Given the description of an element on the screen output the (x, y) to click on. 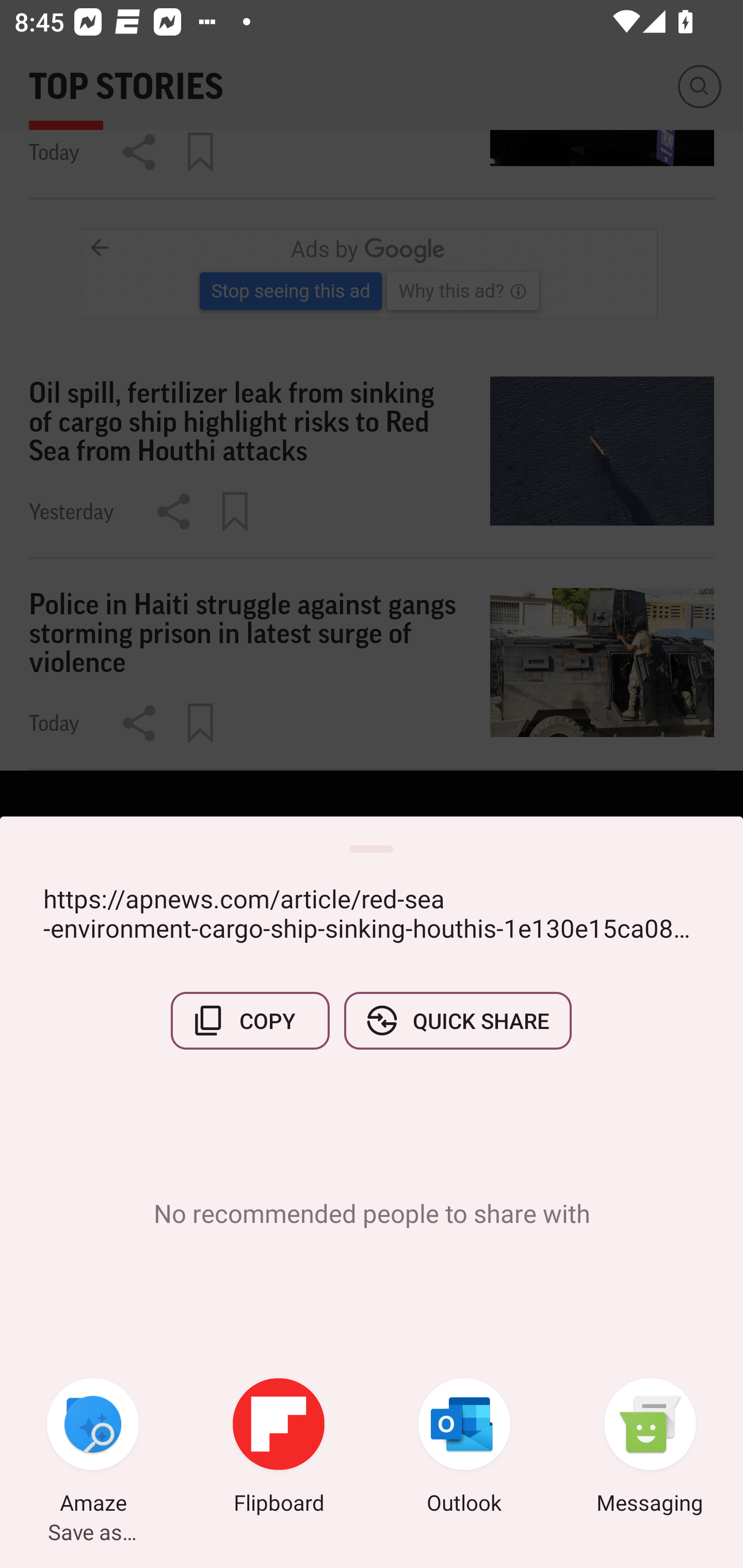
COPY (249, 1020)
QUICK SHARE (457, 1020)
Amaze Save as… (92, 1448)
Flipboard (278, 1448)
Outlook (464, 1448)
Messaging (650, 1448)
